Given the description of an element on the screen output the (x, y) to click on. 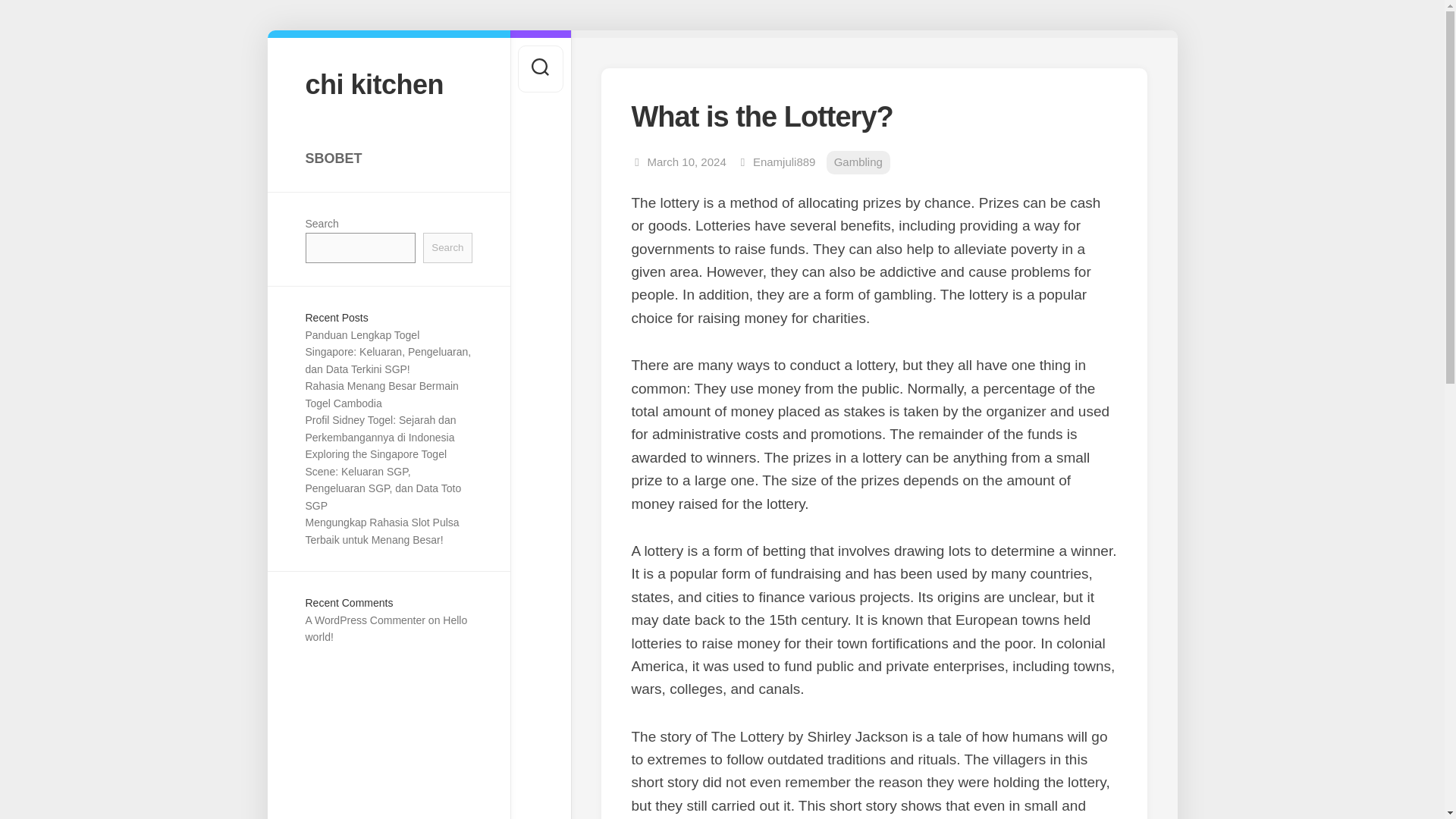
chi kitchen (387, 83)
Mengungkap Rahasia Slot Pulsa Terbaik untuk Menang Besar! (381, 531)
Hello world! (385, 628)
Search (447, 247)
Enamjuli889 (783, 161)
Rahasia Menang Besar Bermain Togel Cambodia (381, 394)
SBOBET (387, 158)
Posts by Enamjuli889 (783, 161)
Gambling (858, 162)
A WordPress Commenter (364, 620)
